Given the description of an element on the screen output the (x, y) to click on. 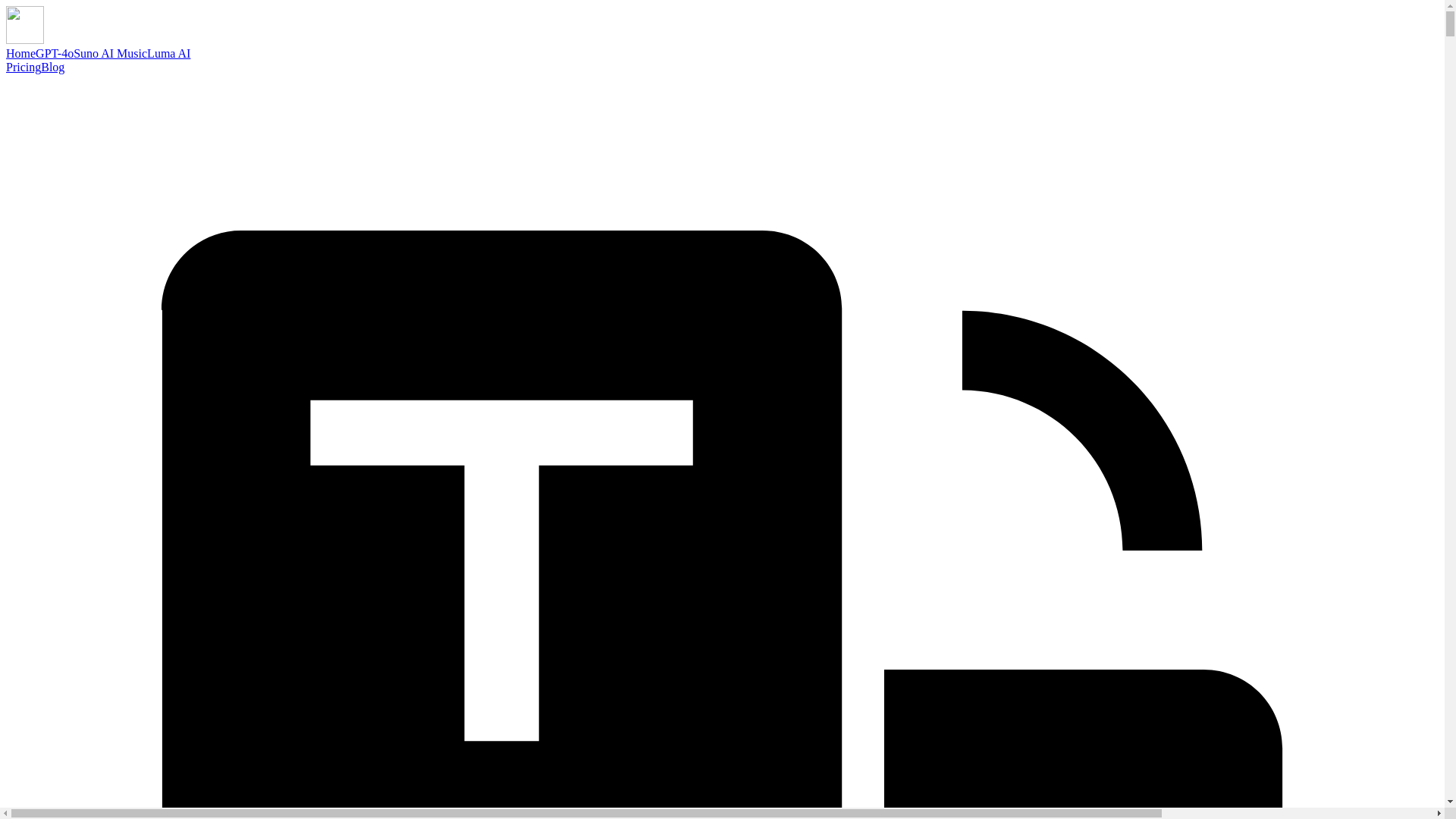
Suno AI Music (110, 52)
Luma AI (168, 52)
GPT-4o (54, 52)
Blog (52, 66)
Home (19, 52)
Pricing (22, 66)
